Given the description of an element on the screen output the (x, y) to click on. 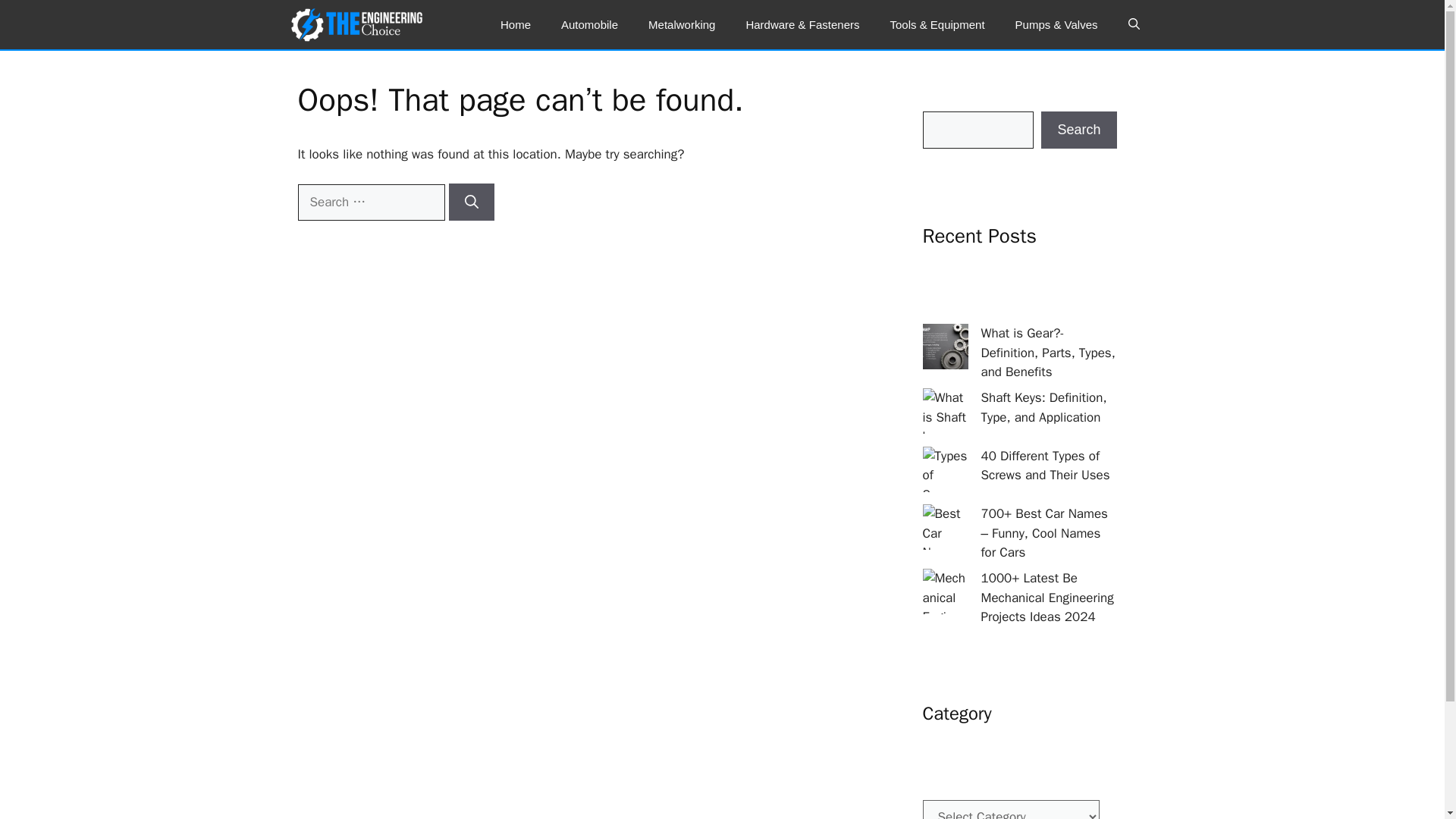
Automobile (589, 23)
Metalworking (681, 23)
Home (515, 23)
40 Different Types of Screws and Their Uses (1045, 465)
Shaft Keys: Definition, Type, and Application (1043, 407)
Search (1078, 129)
Search for: (370, 202)
What is Gear?- Definition, Parts, Types, and Benefits (1048, 352)
The Engineering Choice (356, 24)
